Given the description of an element on the screen output the (x, y) to click on. 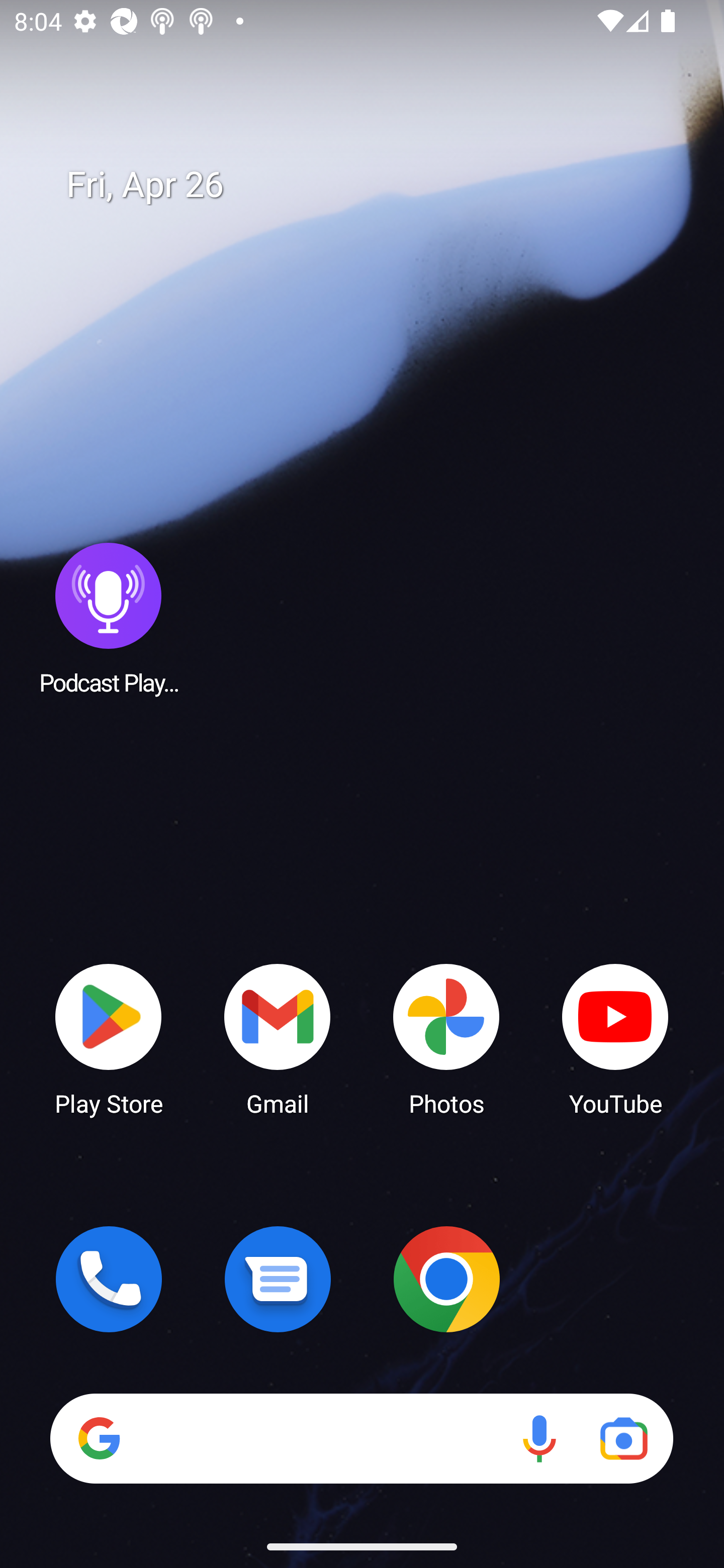
Fri, Apr 26 (375, 184)
Podcast Player (108, 617)
Play Store (108, 1038)
Gmail (277, 1038)
Photos (445, 1038)
YouTube (615, 1038)
Phone (108, 1279)
Messages (277, 1279)
Chrome (446, 1279)
Search Voice search Google Lens (361, 1438)
Voice search (539, 1438)
Google Lens (623, 1438)
